Given the description of an element on the screen output the (x, y) to click on. 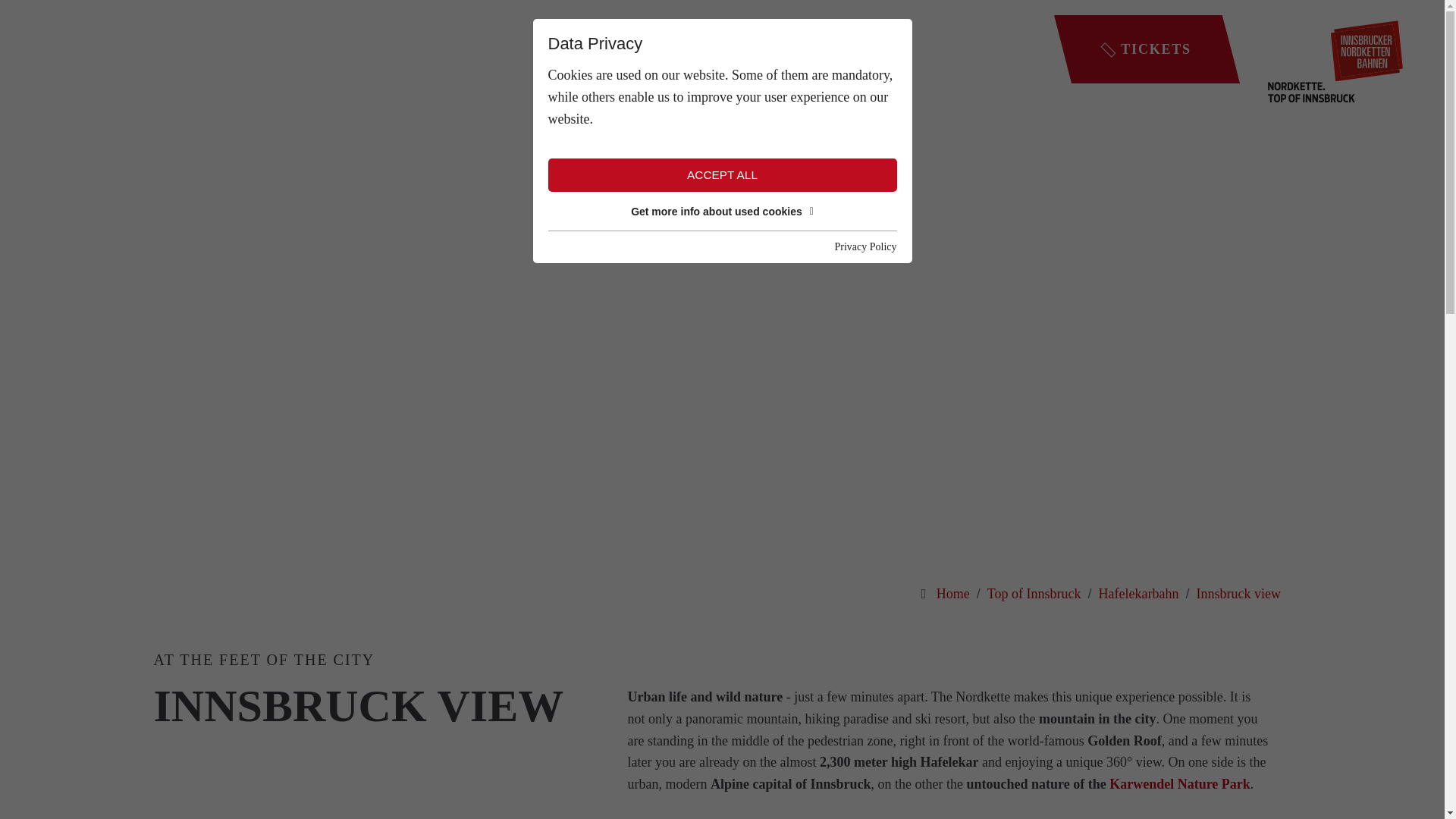
Hafelekarbahn (1139, 592)
Navigation Toggle (63, 48)
Home (952, 592)
Top of Innsbruck (1034, 592)
Innsbruck view (1238, 592)
Innsbrucker Nordketten Bahnen (1334, 60)
